Given the description of an element on the screen output the (x, y) to click on. 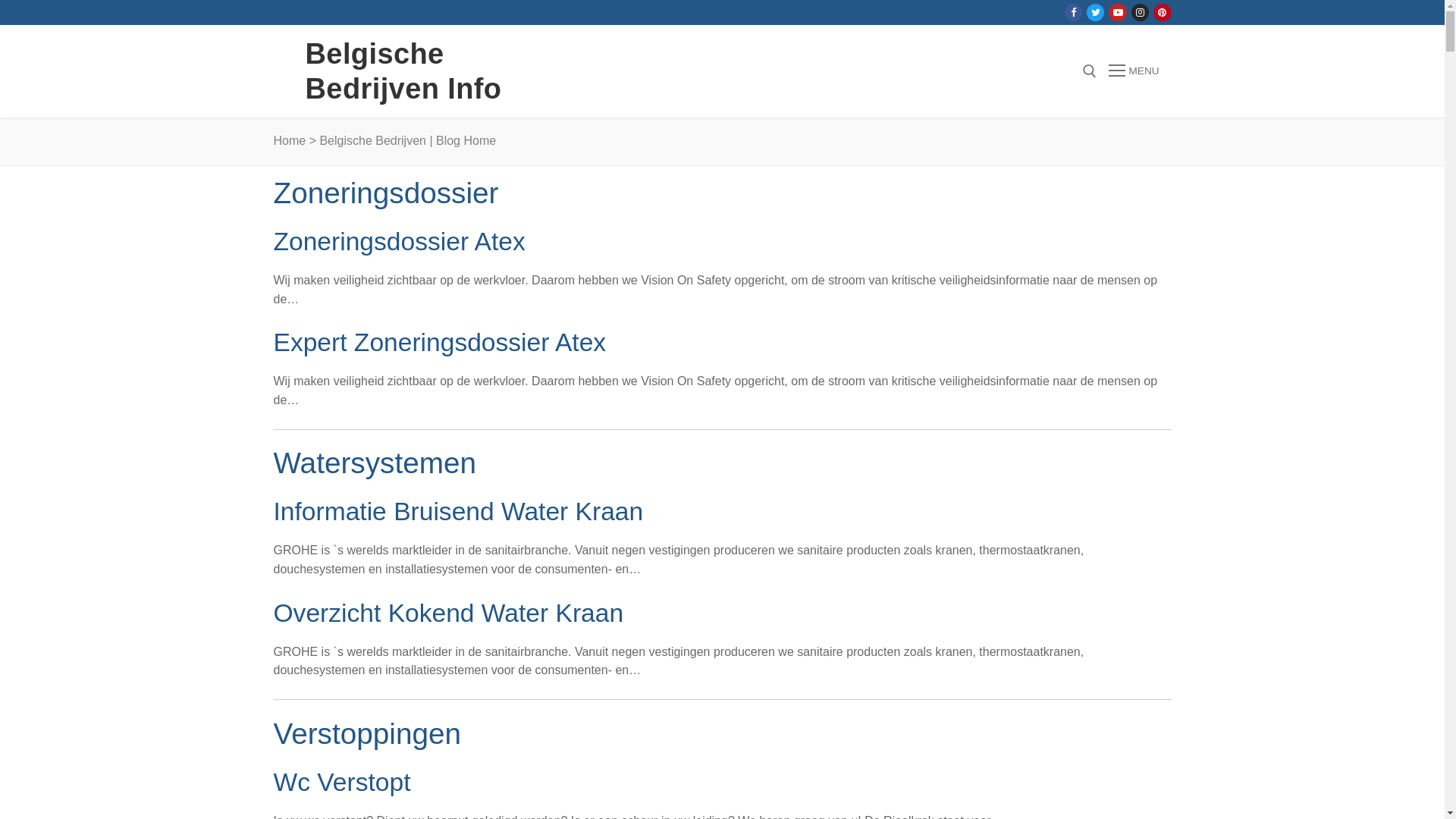
Informatie Bruisend Water Kraan Element type: text (458, 511)
MENU Element type: text (1133, 71)
Wc Verstopt Element type: text (341, 782)
Zoneringsdossier Element type: text (385, 192)
Zoneringsdossier Atex Element type: text (398, 241)
Verstoppingen Element type: text (367, 733)
Pinterest Element type: hover (1162, 12)
Youtube Element type: hover (1118, 12)
Overzicht Kokend Water Kraan Element type: text (448, 613)
Spring naar de inhoud Element type: text (0, 0)
Facebook Element type: hover (1073, 12)
Belgische Bedrijven Info Element type: text (440, 71)
Instagram Element type: hover (1140, 12)
Expert Zoneringsdossier Atex Element type: text (439, 342)
Watersystemen Element type: text (374, 462)
Twitter Element type: hover (1095, 12)
